Given the description of an element on the screen output the (x, y) to click on. 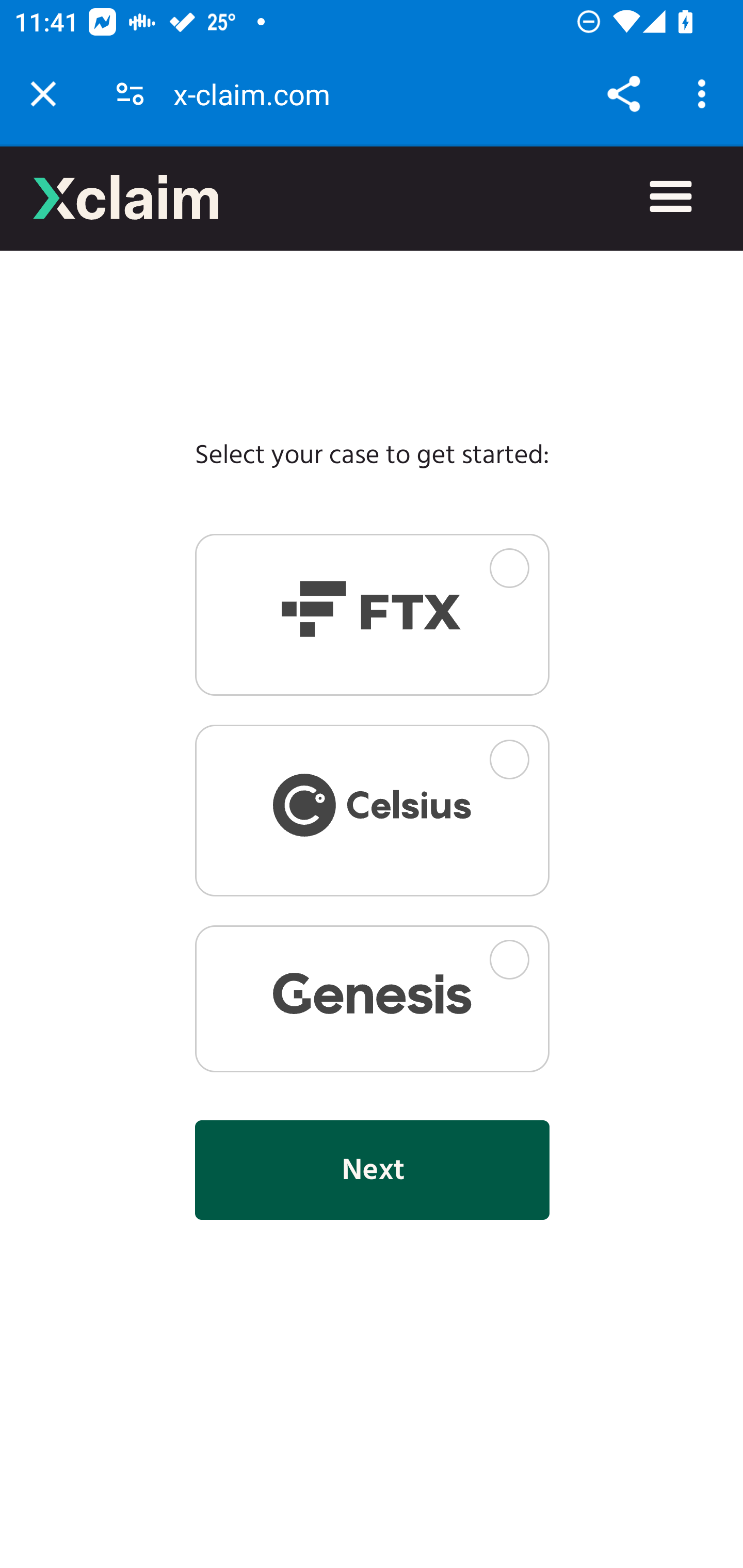
Close tab (43, 93)
Share (623, 93)
Customize and control Google Chrome (705, 93)
Connection is secure (129, 93)
x-claim.com (258, 93)
menu (670, 197)
Xclaim (126, 196)
Next (371, 1169)
